Given the description of an element on the screen output the (x, y) to click on. 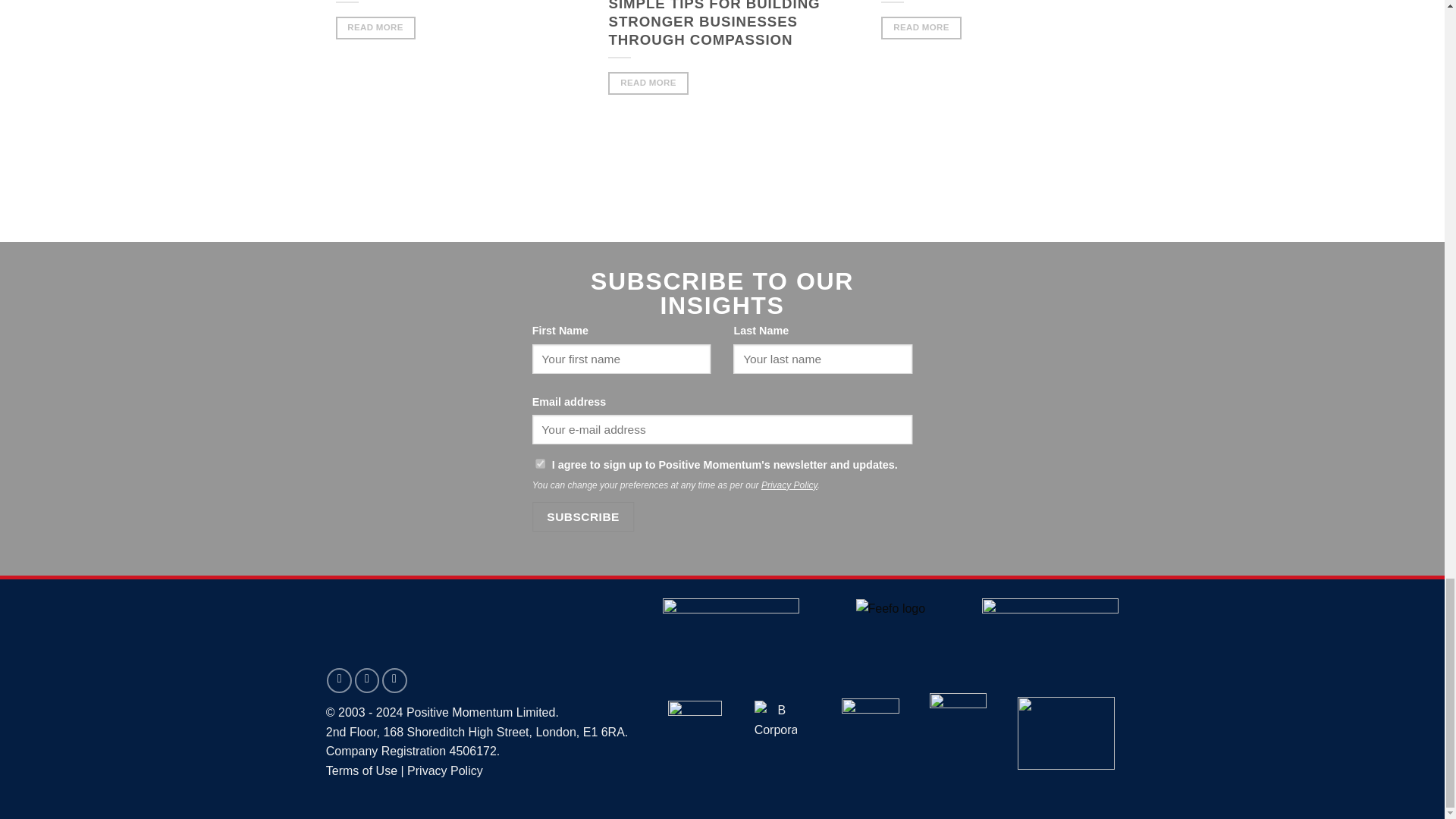
Send us an email (339, 680)
Follow on LinkedIn (367, 680)
Follow on YouTube (394, 680)
READ MORE (374, 27)
Subscribe (583, 516)
See what our customers say about us (891, 608)
1 (539, 463)
